Given the description of an element on the screen output the (x, y) to click on. 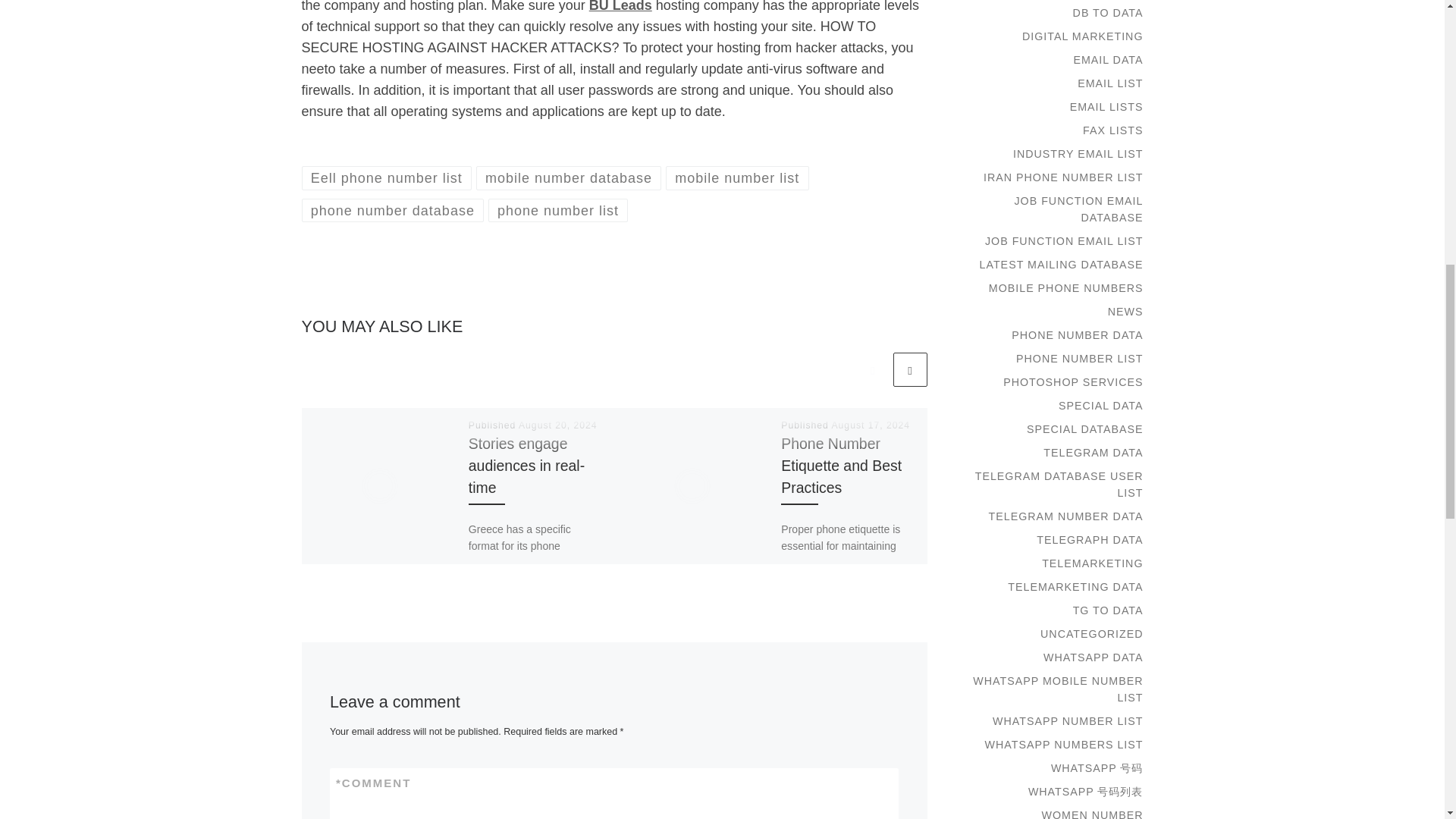
View all posts in mobile number list (737, 177)
Previous related articles (872, 369)
BU Leads (620, 6)
View all posts in mobile number database (569, 177)
Stories engage audiences in real-time (526, 465)
Next related articles (910, 369)
phone number list (557, 210)
Eell phone number list (386, 177)
Phone Number Etiquette and Best Practices (840, 465)
